Given the description of an element on the screen output the (x, y) to click on. 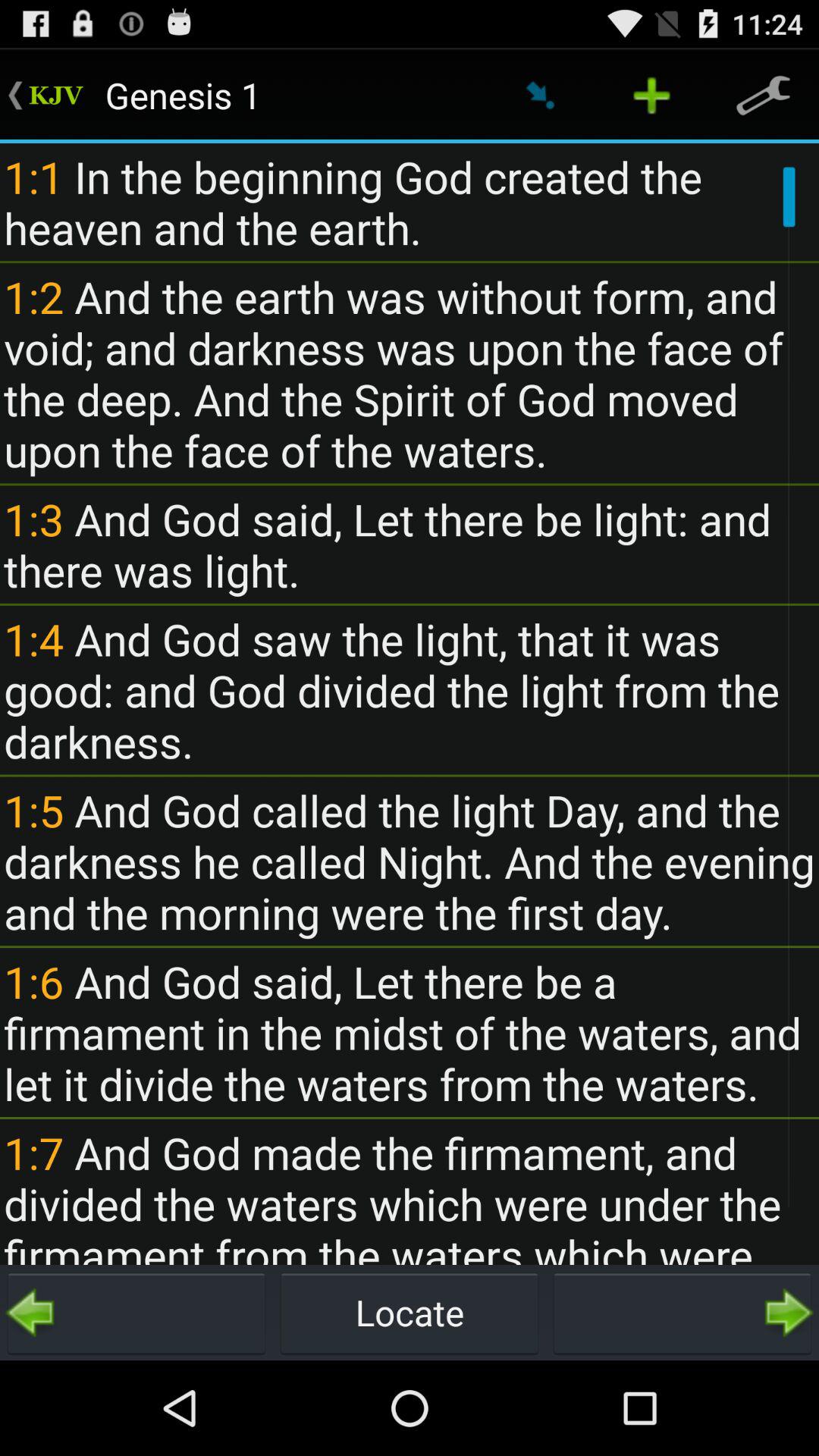
open icon to the left of the locate item (136, 1312)
